Given the description of an element on the screen output the (x, y) to click on. 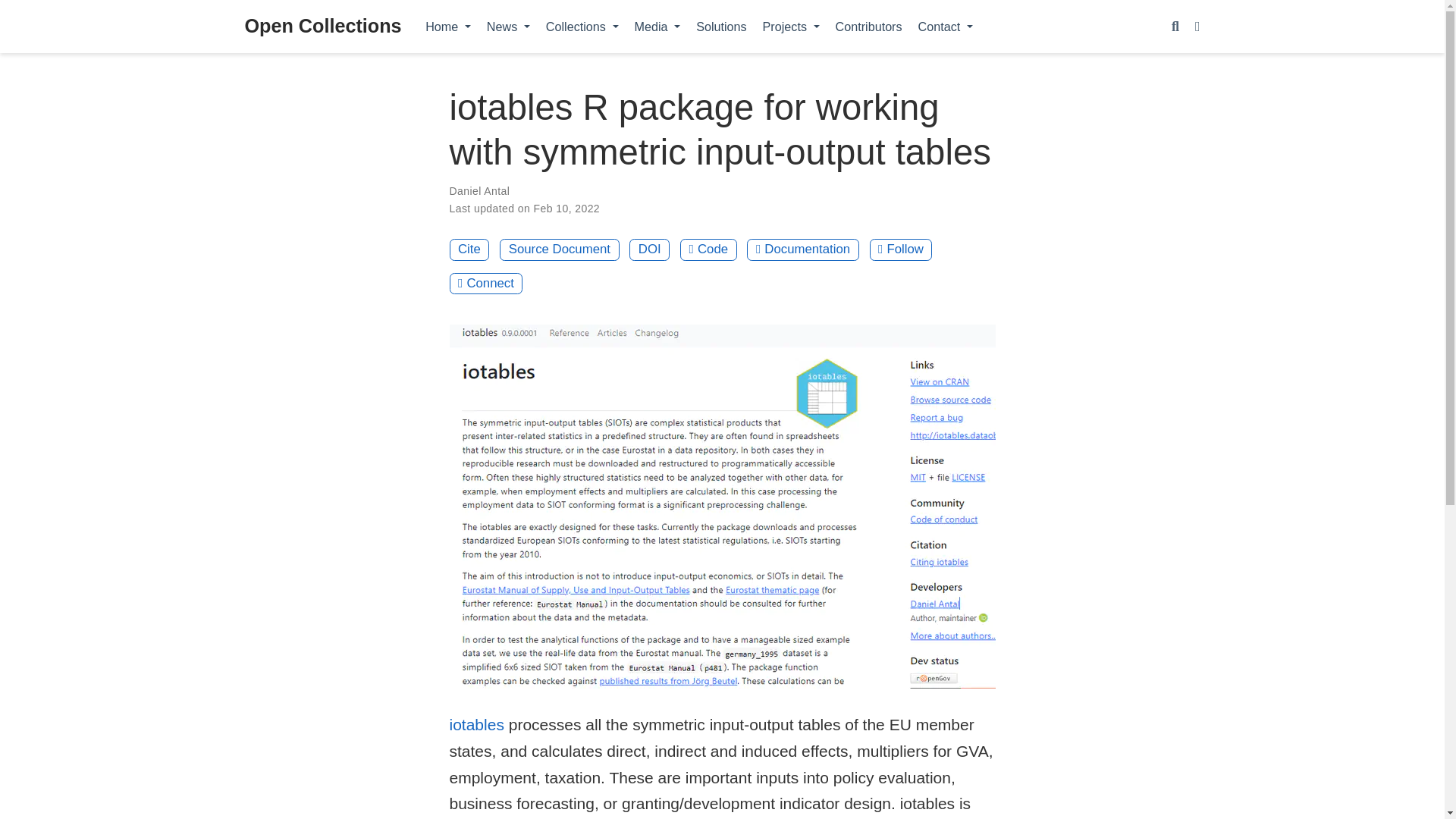
Contributors (868, 25)
Daniel Antal (478, 191)
Source Document (558, 250)
DOI (648, 250)
Contact (944, 25)
Open Collections (322, 26)
Cite (468, 250)
Solutions (721, 25)
Media (657, 25)
Projects (790, 25)
